Given the description of an element on the screen output the (x, y) to click on. 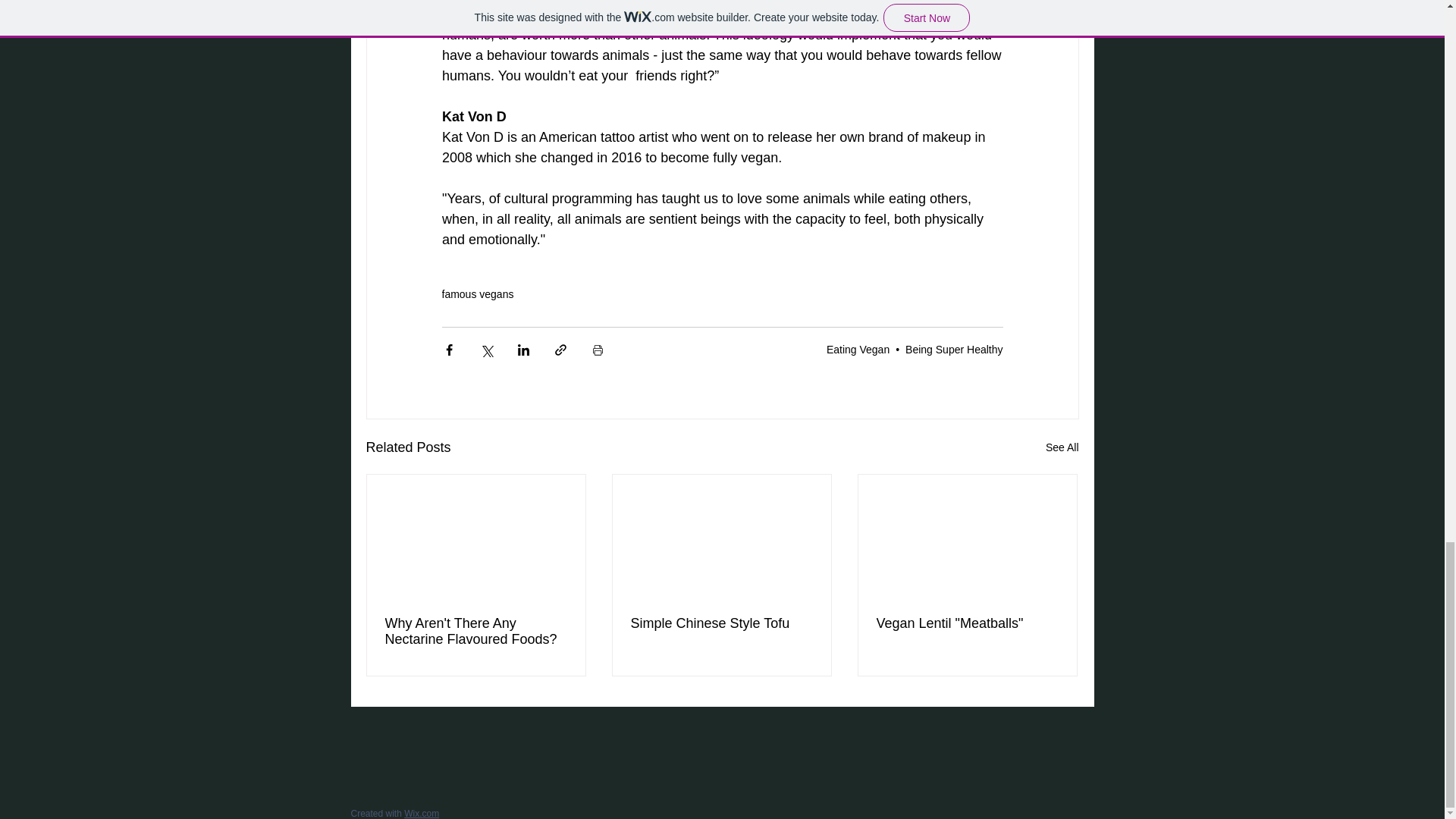
Vegan Lentil "Meatballs" (967, 622)
Simple Chinese Style Tofu (721, 622)
Being Super Healthy (954, 349)
famous vegans (477, 293)
See All (1061, 446)
Eating Vegan (858, 349)
Why Aren't There Any Nectarine Flavoured Foods? (476, 631)
